Given the description of an element on the screen output the (x, y) to click on. 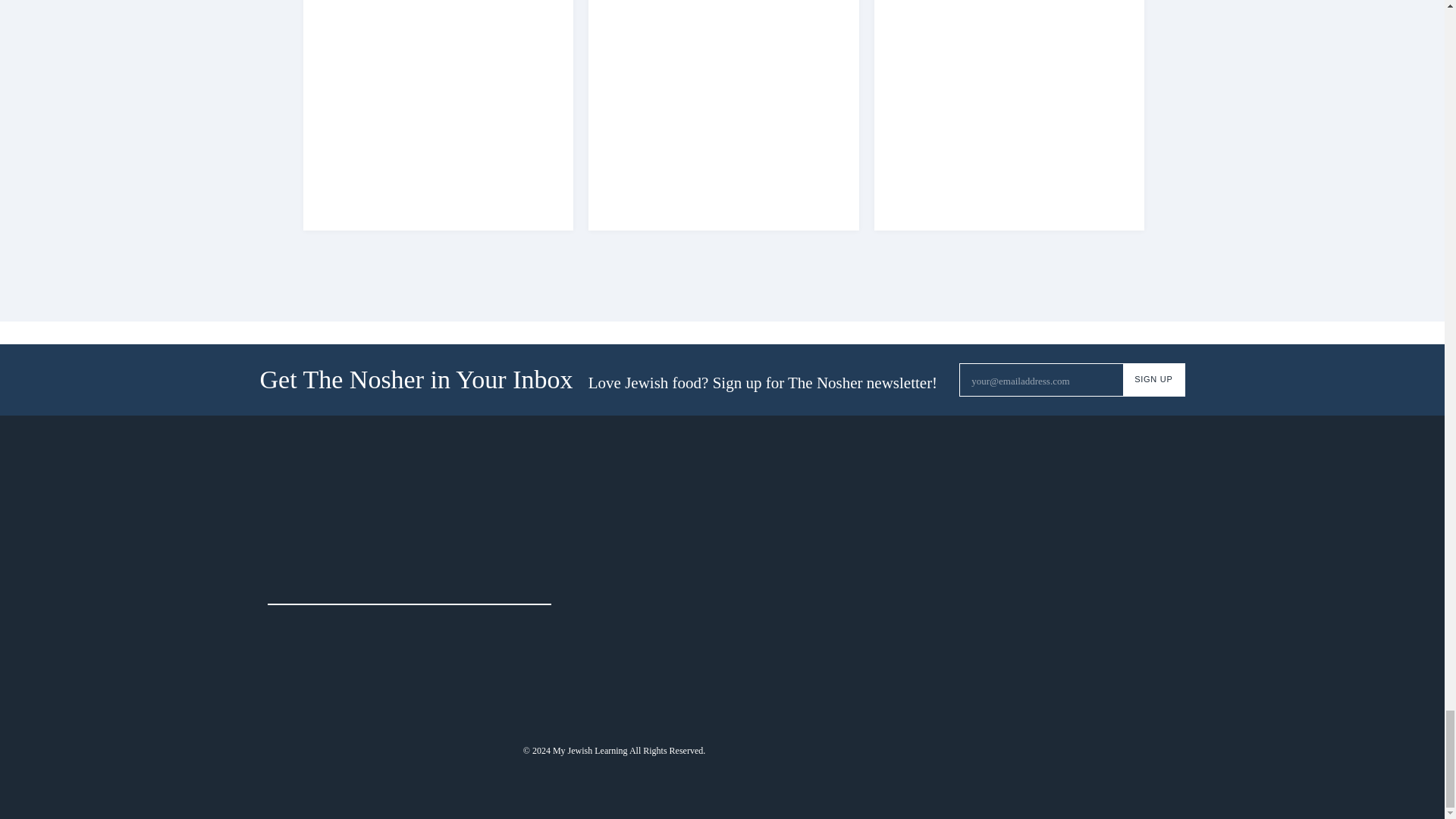
SIGN UP (1152, 379)
